Given the description of an element on the screen output the (x, y) to click on. 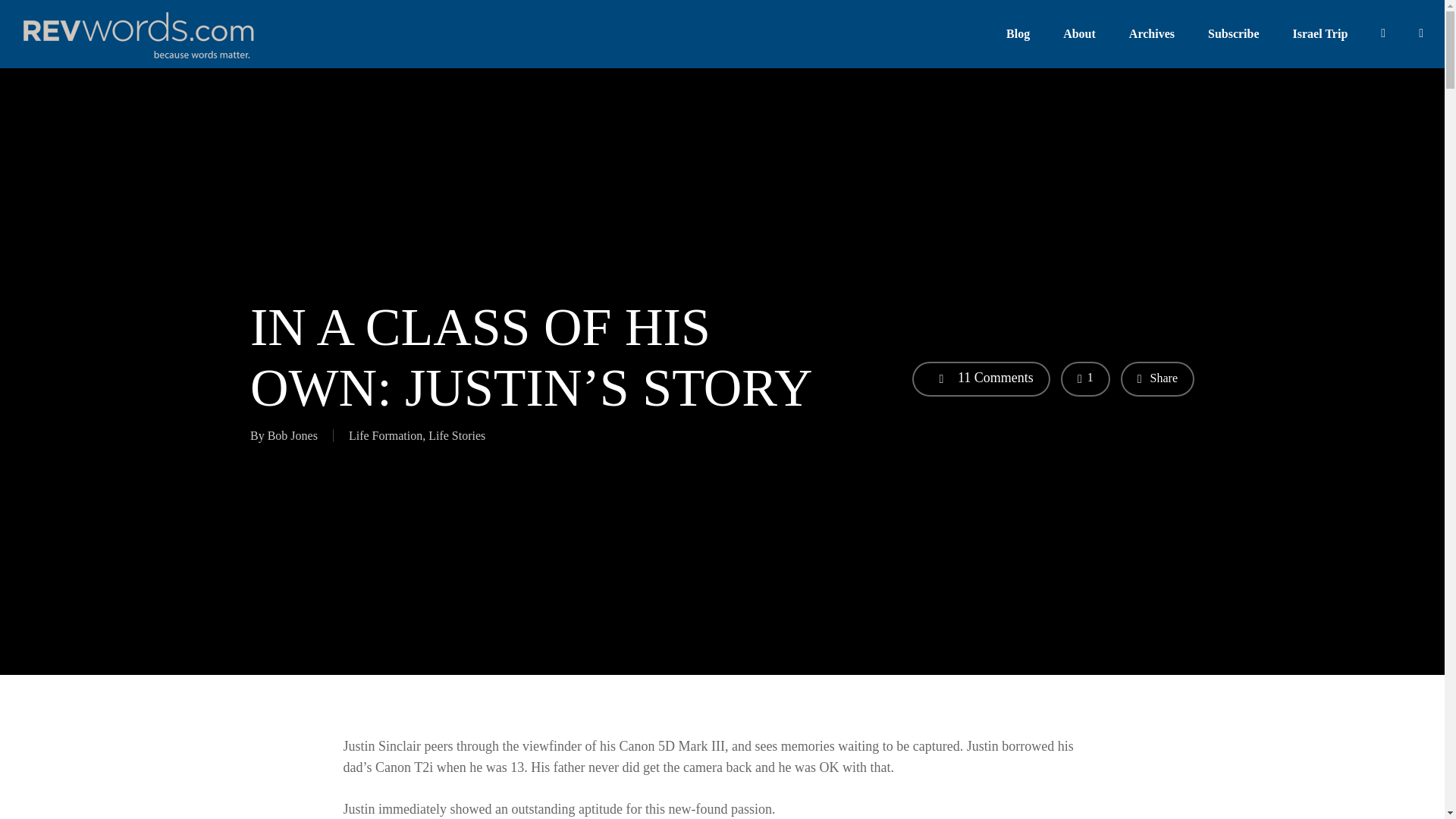
Posts by Bob Jones (292, 435)
Life Formation (385, 435)
Bob Jones (292, 435)
Love this (1085, 378)
Subscribe (1233, 34)
1 (1085, 378)
Archives (1151, 34)
11 Comments (980, 378)
About (1079, 34)
Israel Trip (1320, 34)
